Given the description of an element on the screen output the (x, y) to click on. 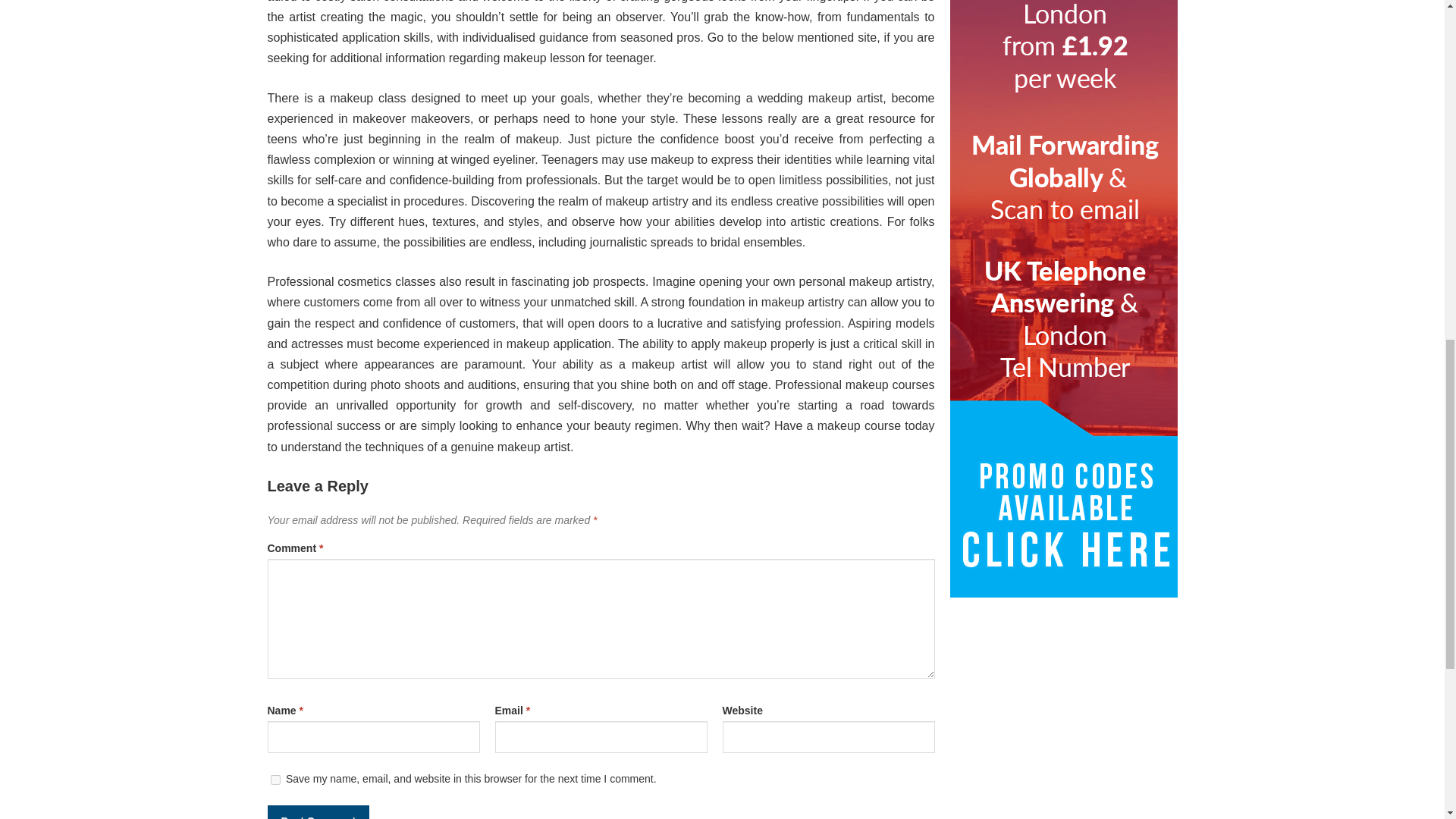
Post Comment (317, 812)
Post Comment (317, 812)
makeup lesson for teenager (577, 57)
yes (274, 779)
